Given the description of an element on the screen output the (x, y) to click on. 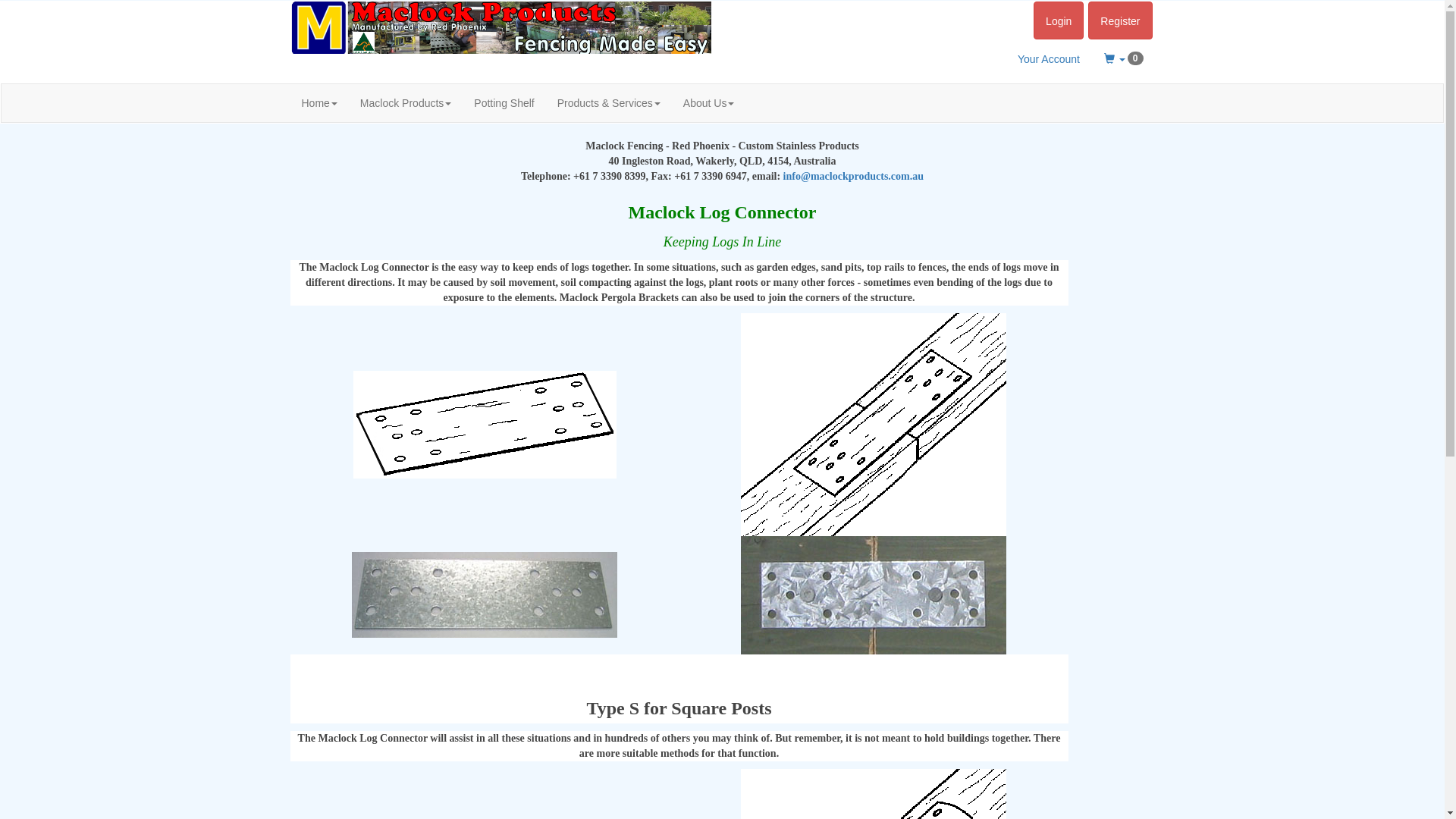
Home Element type: text (318, 103)
0 Element type: text (1123, 59)
Maclock Products Element type: hover (499, 27)
Your Account Element type: text (1048, 59)
Potting Shelf Element type: text (503, 103)
Maclock Products Element type: text (405, 103)
Register Element type: text (1119, 20)
About Us Element type: text (708, 103)
Products & Services Element type: text (608, 103)
Login Element type: text (1058, 20)
info@maclockproducts.com.au Element type: text (853, 176)
